Given the description of an element on the screen output the (x, y) to click on. 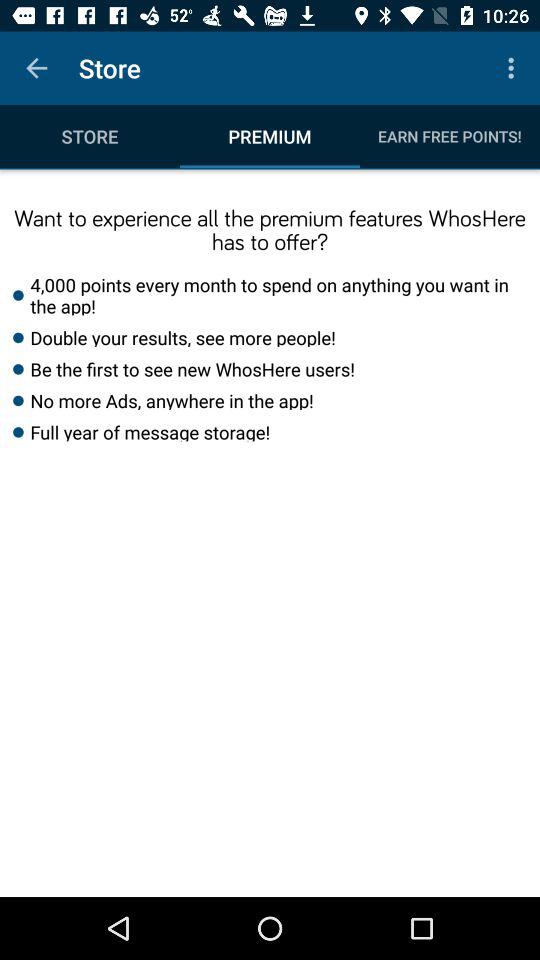
press item next to the store (36, 68)
